Given the description of an element on the screen output the (x, y) to click on. 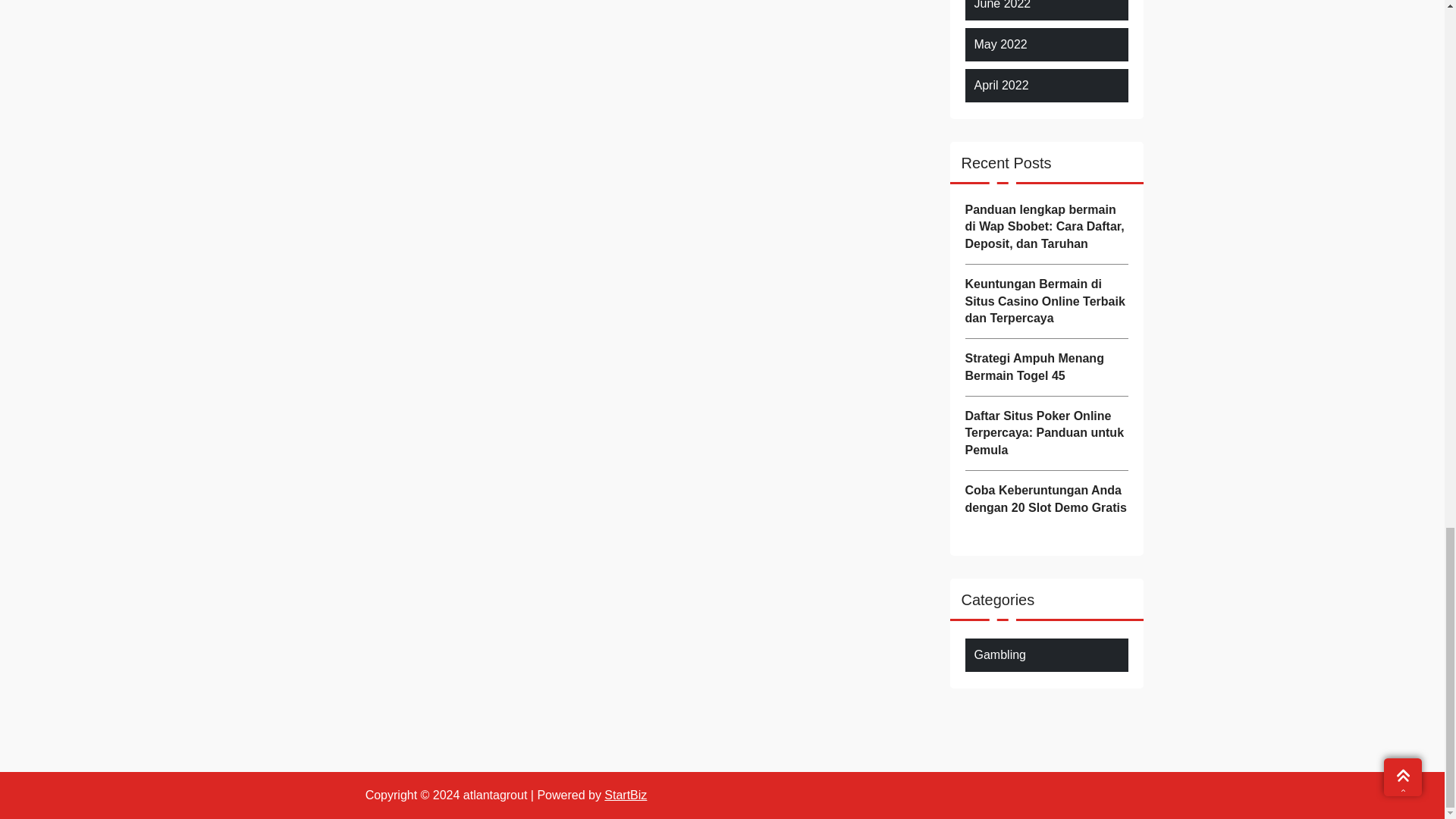
June 2022 (1002, 6)
Strategi Ampuh Menang Bermain Togel 45 (1044, 367)
April 2022 (1000, 85)
May 2022 (1000, 45)
